Given the description of an element on the screen output the (x, y) to click on. 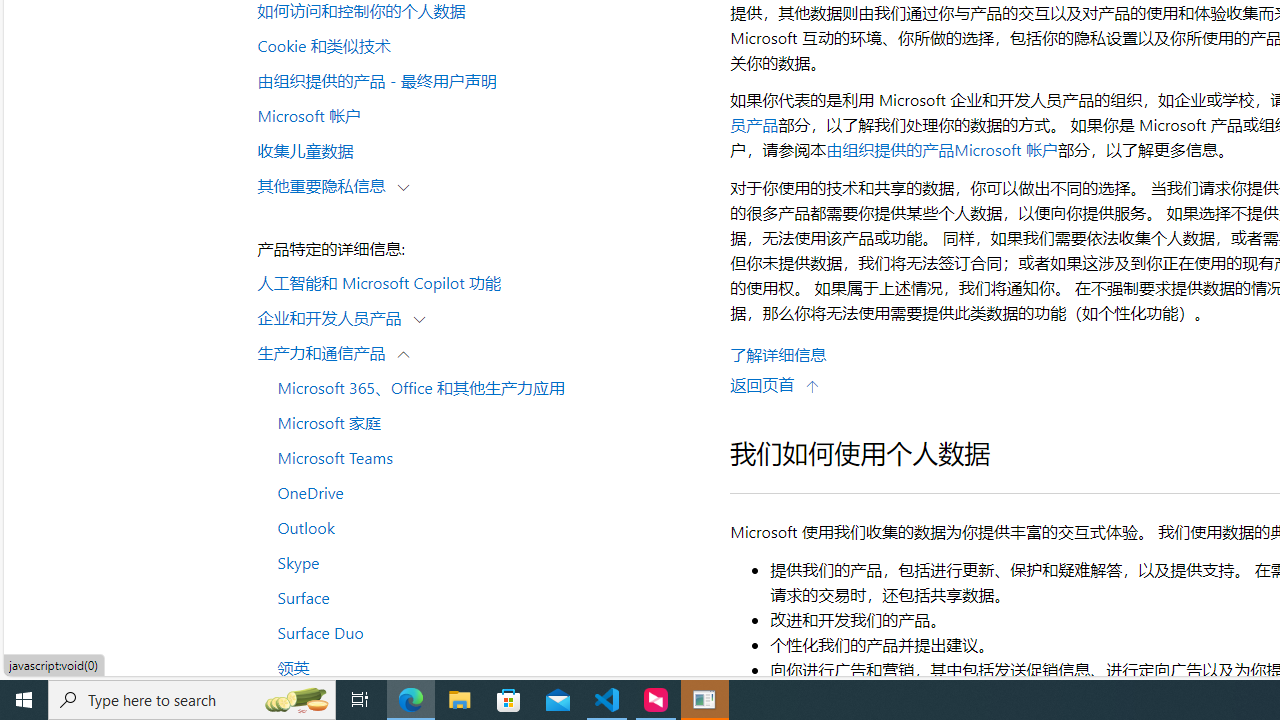
Microsoft Teams (483, 457)
Skype (483, 561)
OneDrive (483, 491)
Surface (483, 596)
Surface Duo (483, 632)
